Given the description of an element on the screen output the (x, y) to click on. 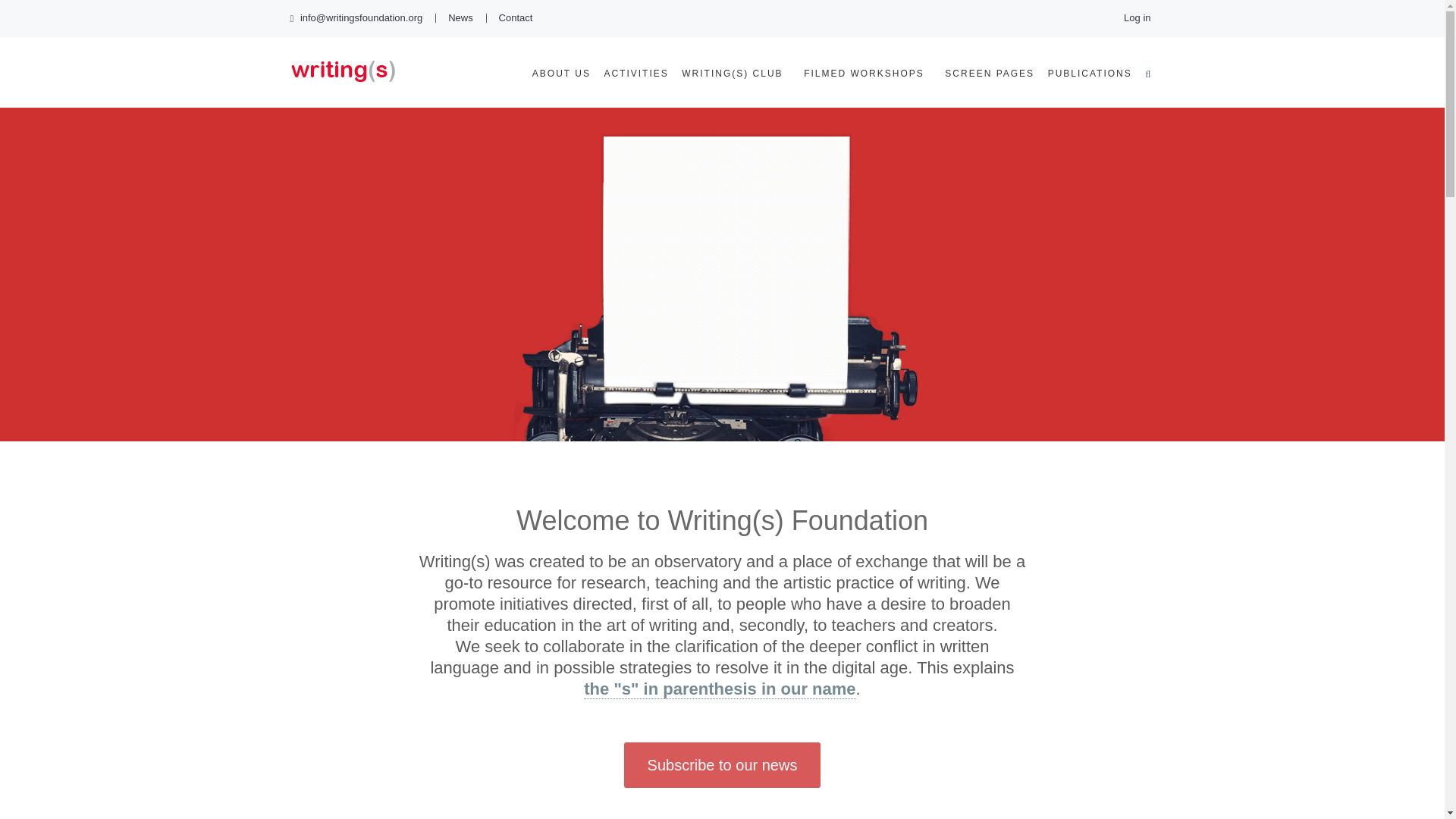
Search (969, 388)
Subscribe to our news (722, 764)
Contact (515, 17)
Log in (1136, 17)
FILMED WORKSHOPS (864, 73)
News (460, 17)
the "s" in parenthesis in our name (719, 689)
